Given the description of an element on the screen output the (x, y) to click on. 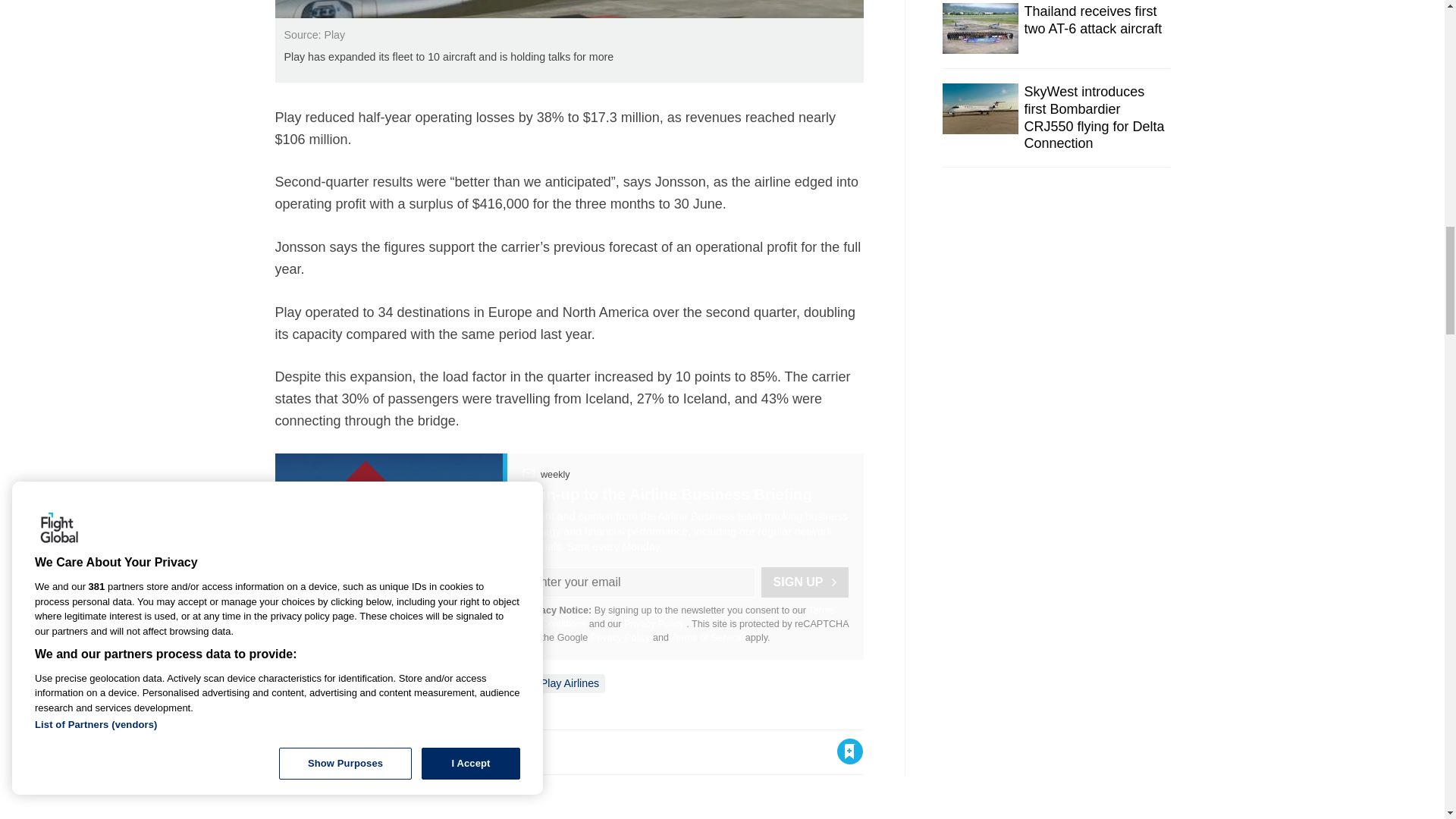
Share this on Facebook (288, 750)
Share this on Linked in (352, 750)
Share this on Twitter (320, 750)
Email this article (386, 750)
